Given the description of an element on the screen output the (x, y) to click on. 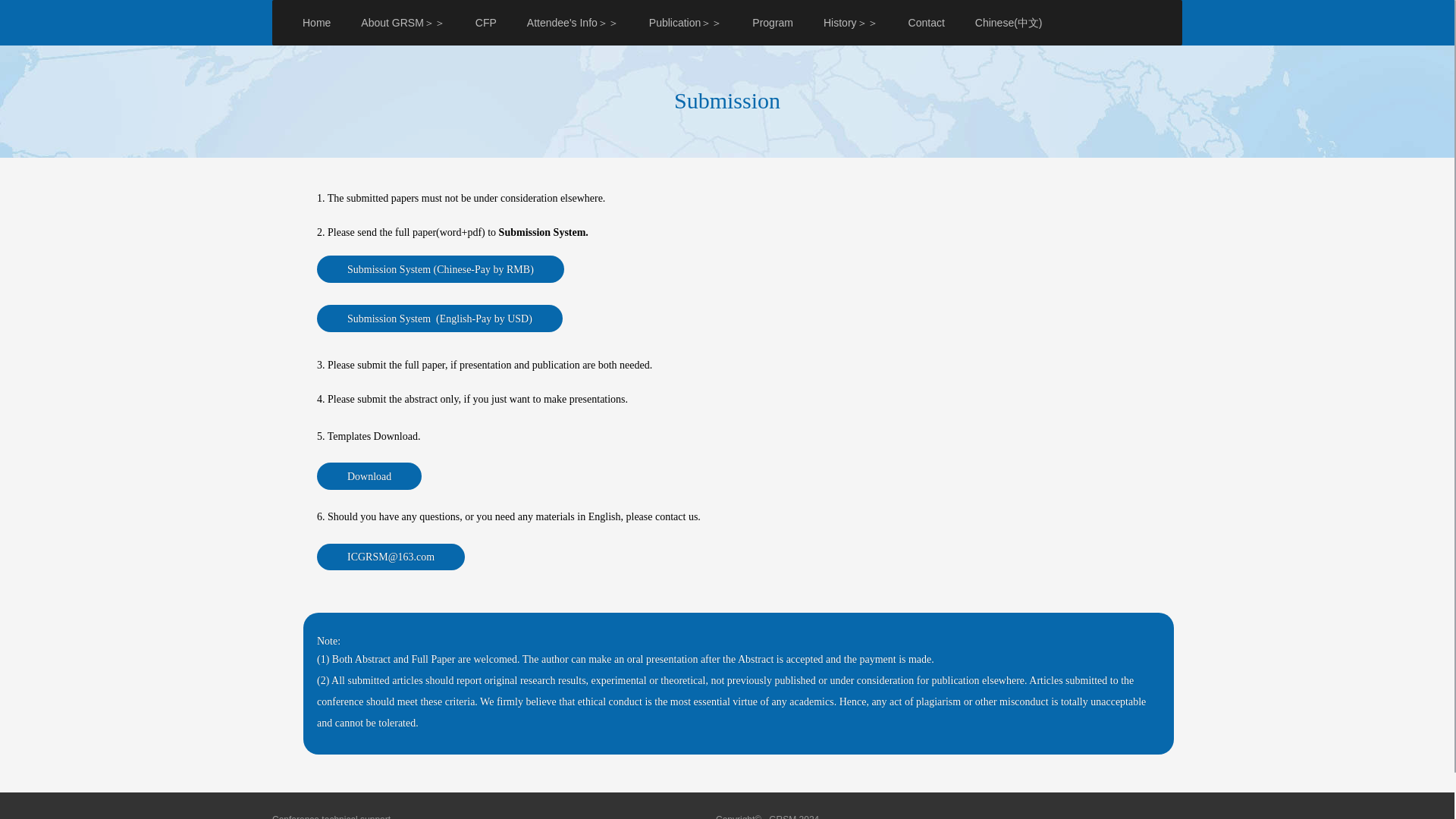
Home (316, 22)
Home (1109, 79)
Program (772, 22)
Contact (926, 22)
Download (369, 475)
CFP (486, 22)
